Given the description of an element on the screen output the (x, y) to click on. 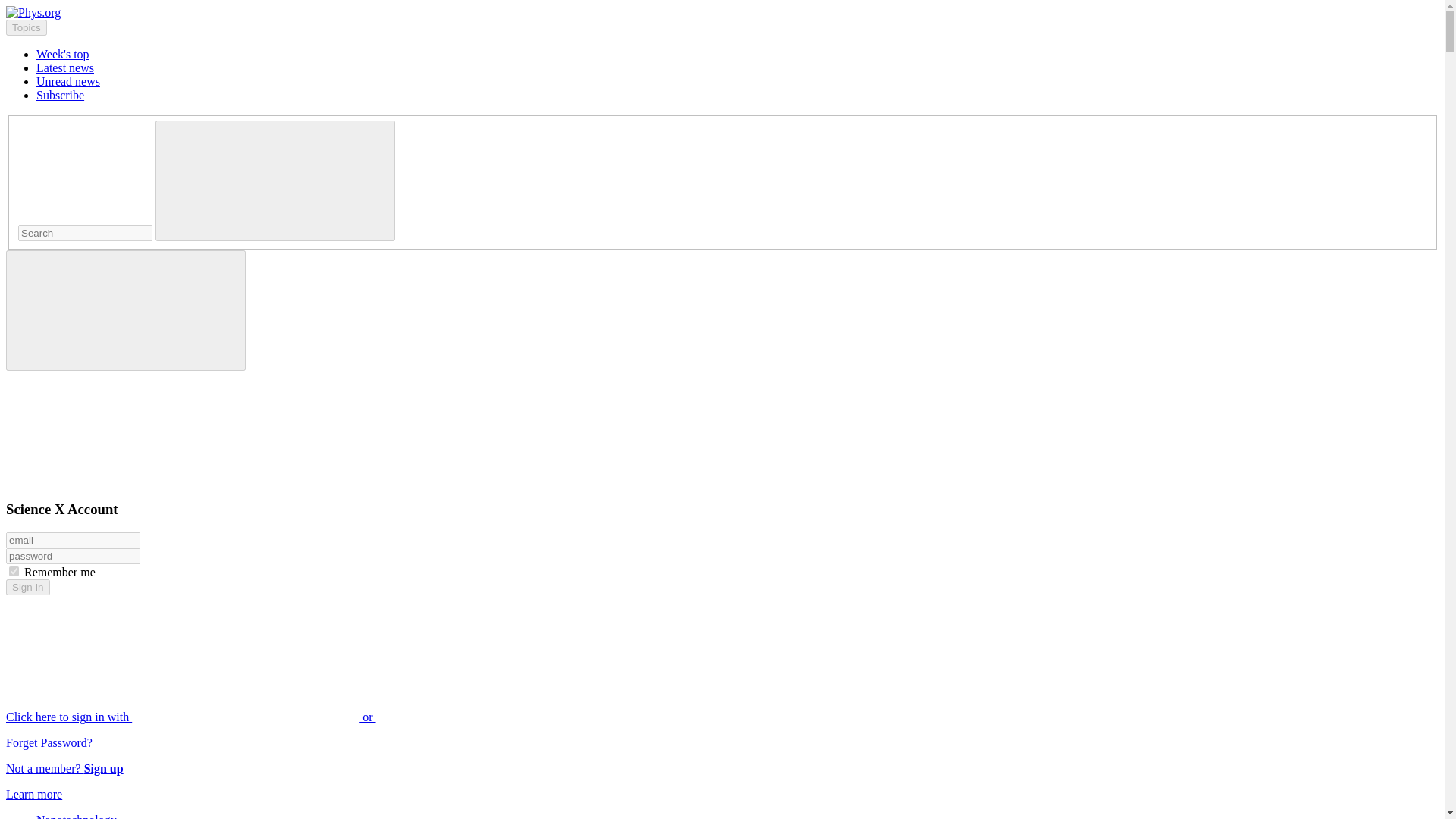
Not a member? Sign up (64, 768)
Learn more (33, 793)
Forget Password? (49, 742)
Topics (25, 27)
Week's top (62, 53)
on (13, 571)
Unread news (68, 81)
Subscribe (60, 94)
Click here to sign in with or (304, 716)
Sign In (27, 587)
Nanotechnology (76, 816)
Latest news (65, 67)
